Given the description of an element on the screen output the (x, y) to click on. 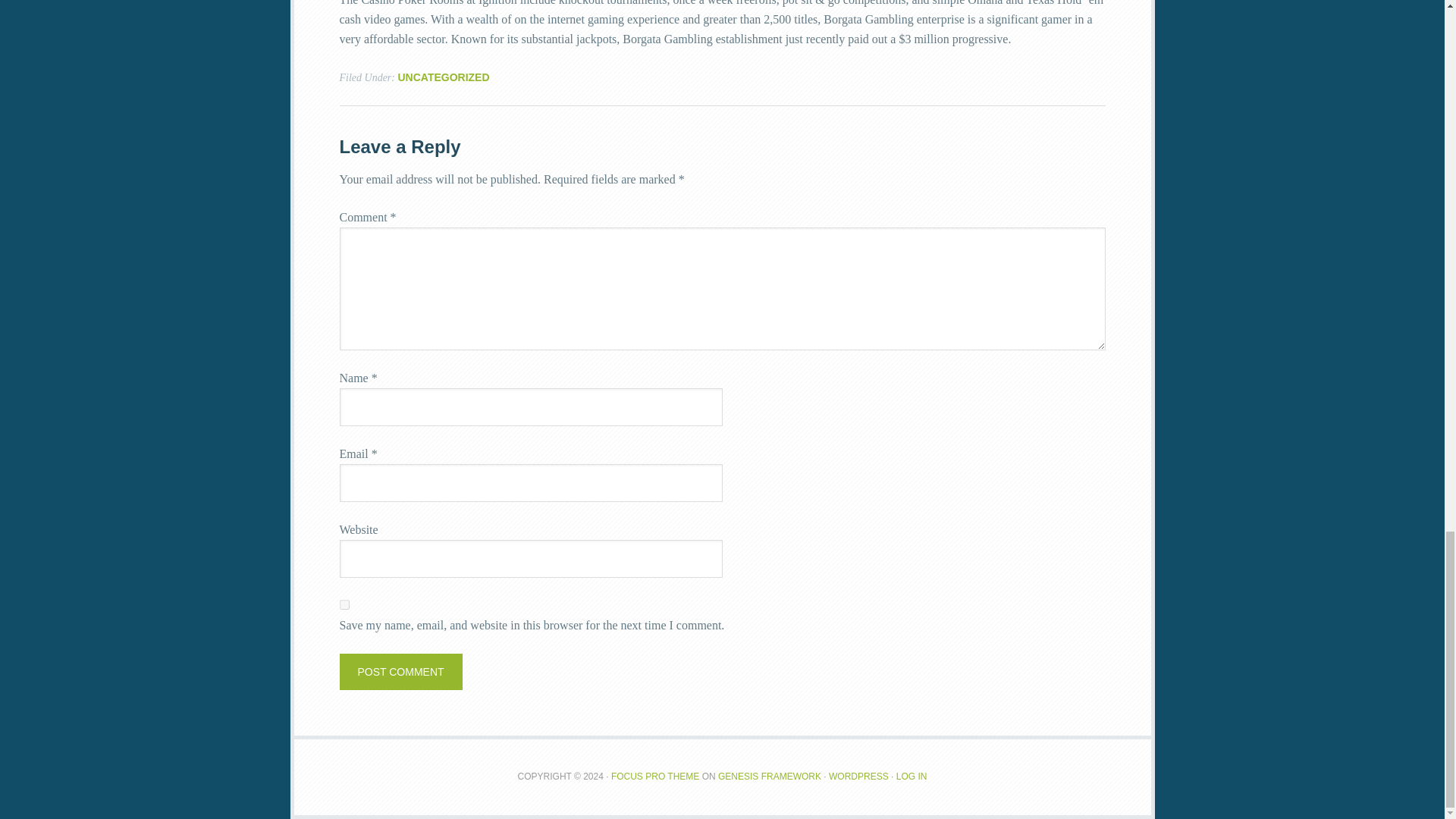
LOG IN (911, 776)
GENESIS FRAMEWORK (769, 776)
yes (344, 604)
WORDPRESS (858, 776)
UNCATEGORIZED (443, 77)
Post Comment (401, 671)
FOCUS PRO THEME (654, 776)
Post Comment (401, 671)
